Given the description of an element on the screen output the (x, y) to click on. 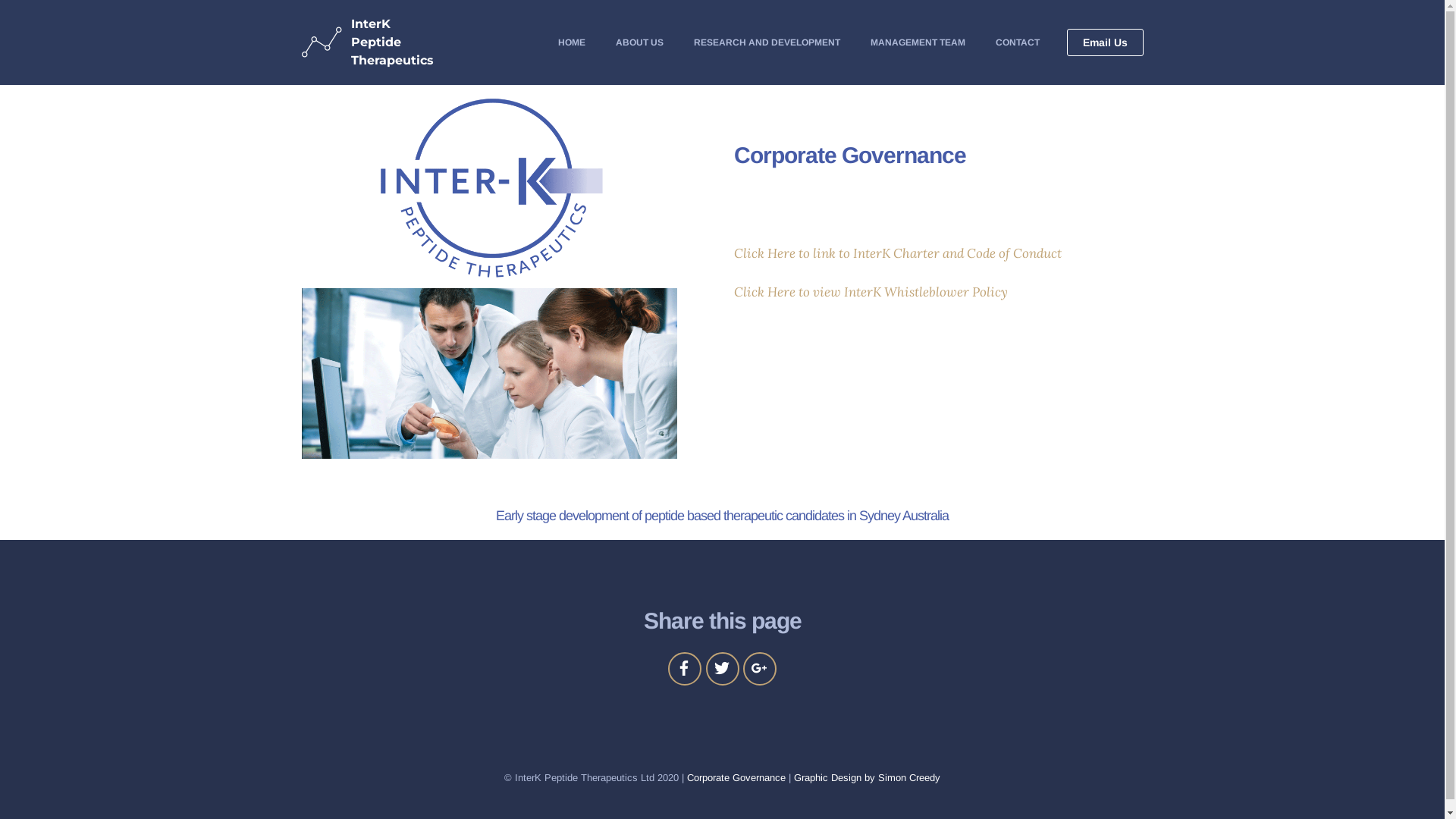
CONTACT Element type: text (1016, 42)
Corporate Governance Element type: text (736, 777)
Click Here to link to InterK Charter and Code of Conduct  Element type: text (899, 252)
InterK 
Peptide
Therapeutics Element type: text (392, 42)
HOME Element type: text (571, 42)
Share link on Google+ Element type: hover (759, 668)
Share link on Facebook Element type: hover (684, 668)
ABOUT US Element type: text (639, 42)
Click Here to view InterK Whistleblower Policy Element type: text (870, 291)
MANAGEMENT TEAM Element type: text (917, 42)
RESEARCH AND DEVELOPMENT Element type: text (766, 42)
Graphic Design by Simon Creedy Element type: text (866, 777)
Email Us Element type: text (1104, 42)
Share link on Twitter Element type: hover (721, 668)
